Given the description of an element on the screen output the (x, y) to click on. 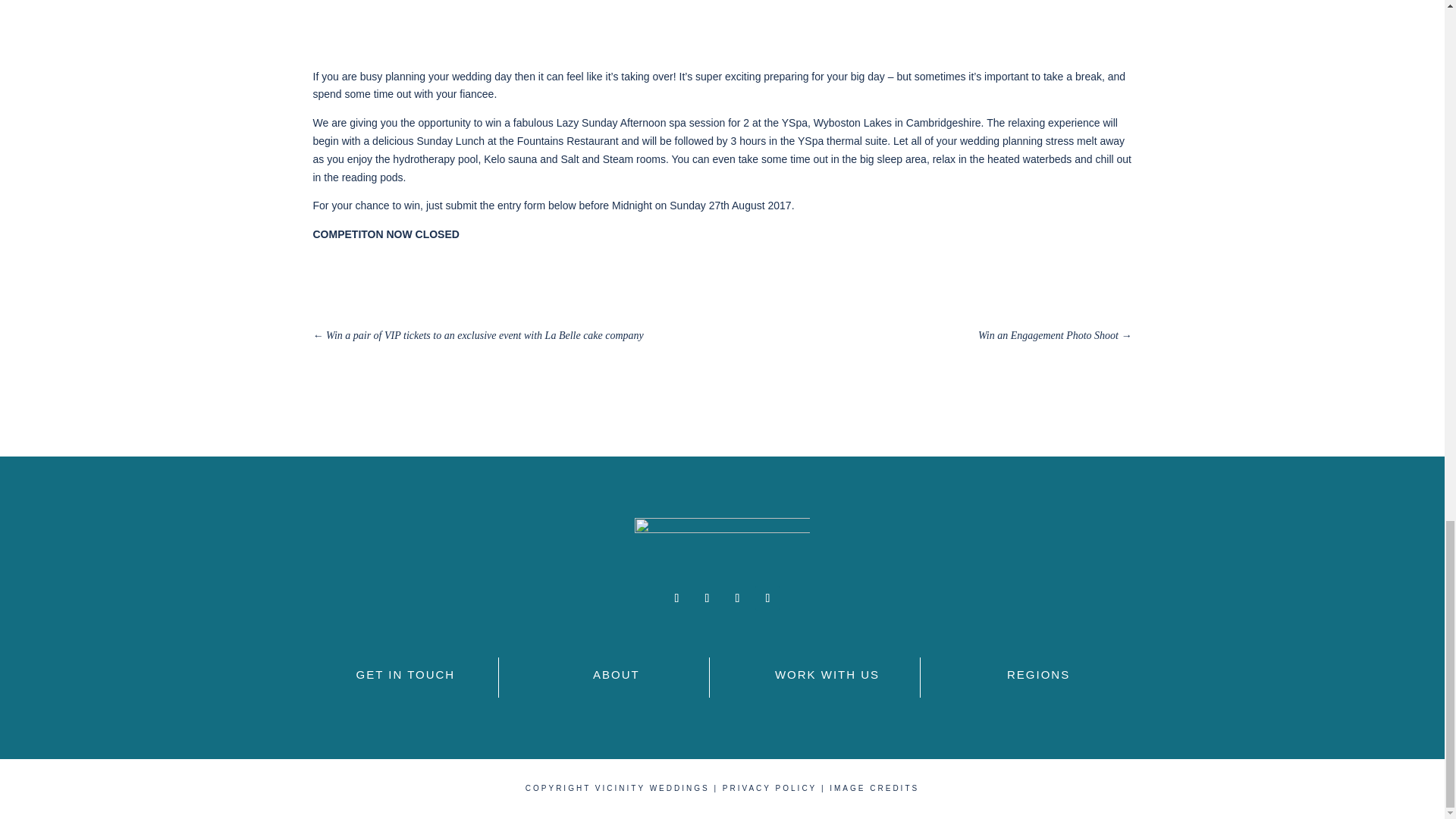
Follow on Pinterest (737, 598)
Follow on Instagram (706, 598)
Follow on Facebook (675, 598)
Follow on TikTok (766, 598)
